Given the description of an element on the screen output the (x, y) to click on. 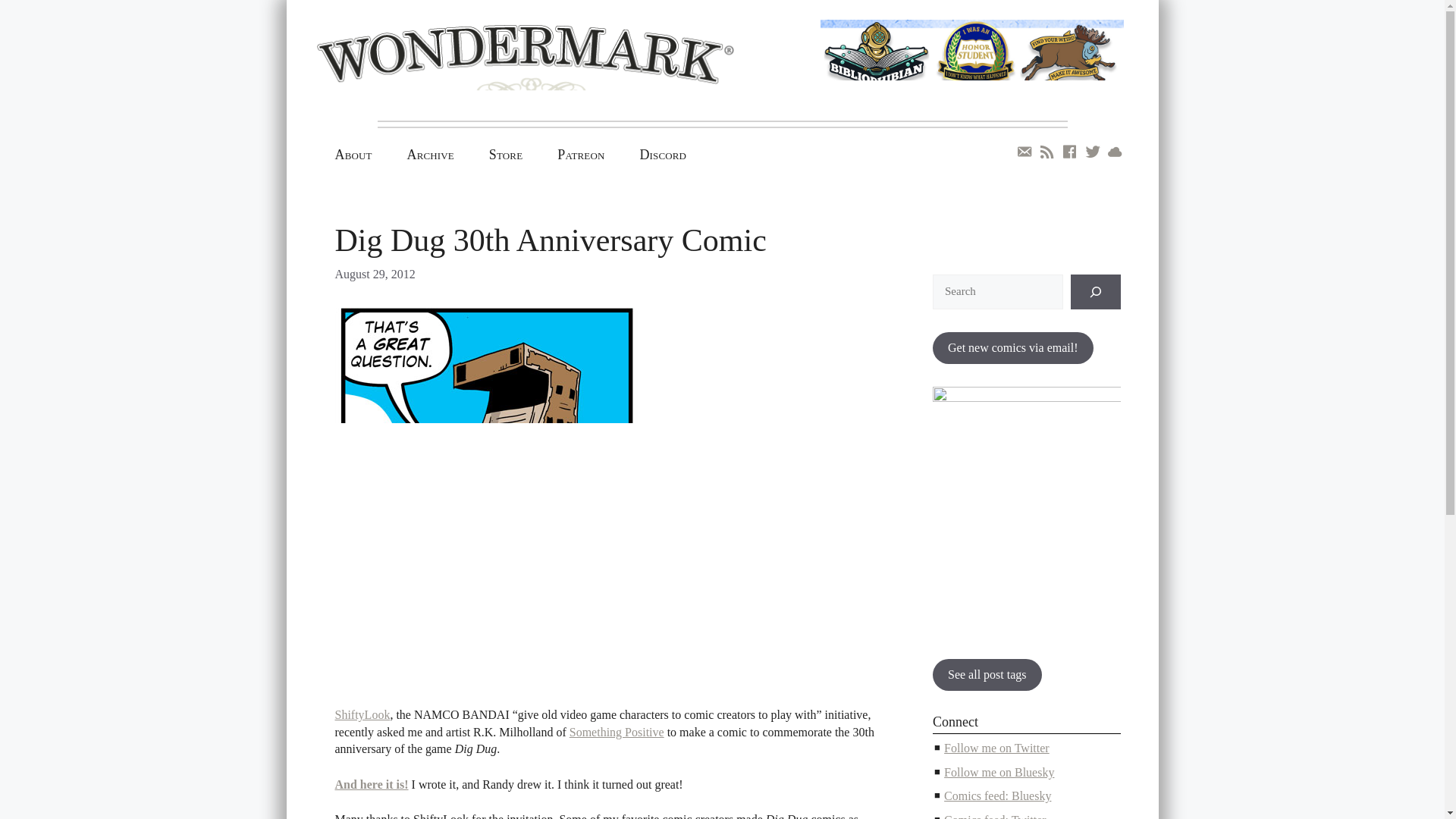
About (352, 154)
Twt (1092, 152)
Patreon (580, 154)
Follow me on Twitter (996, 748)
Comics feed: Bluesky (997, 795)
Follow me on Bluesky (998, 771)
RSS (1047, 152)
Discord (662, 154)
topbanner-pintopia3 (972, 65)
Newsletter (1024, 152)
